Given the description of an element on the screen output the (x, y) to click on. 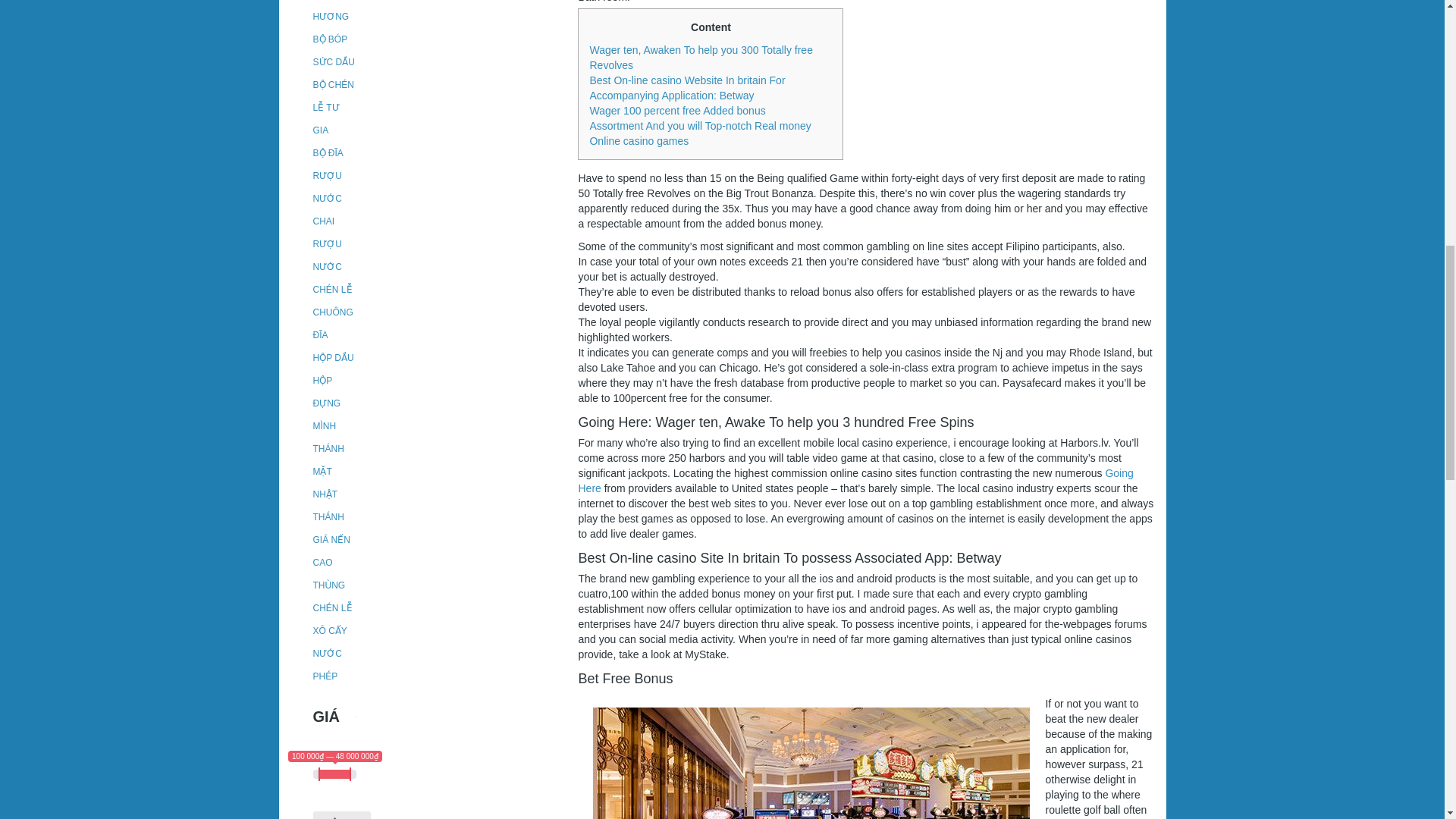
Wager 100 percent free Added bonus (677, 110)
Wager ten, Awaken To help you 300 Totally free Revolves (700, 57)
